Given the description of an element on the screen output the (x, y) to click on. 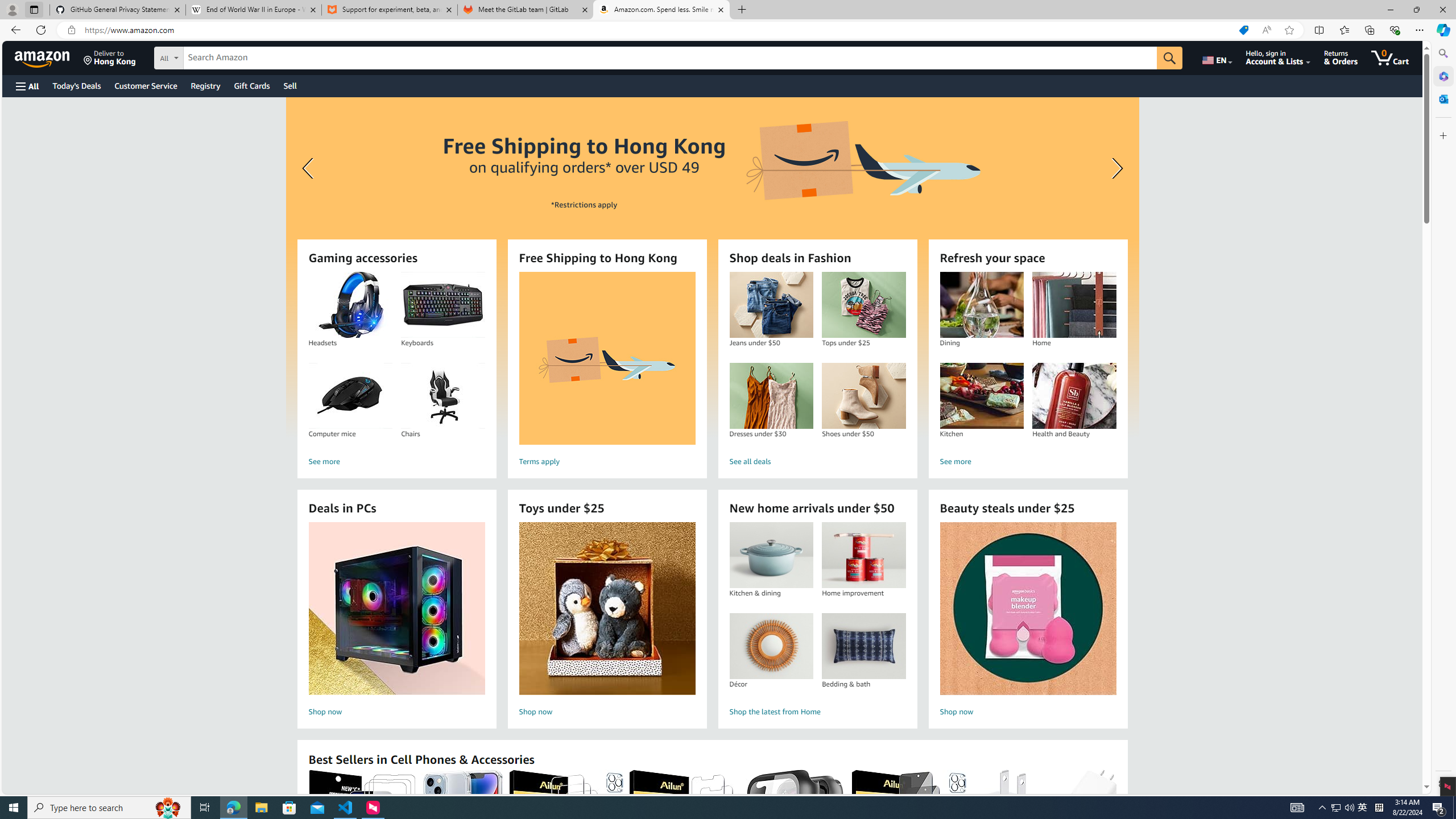
Beauty steals under $25 Shop now (1028, 620)
Deliver to Hong Kong (109, 57)
Close Outlook pane (1442, 98)
Headsets (350, 304)
0 items in cart (1389, 57)
Class: a-carousel-card (711, 267)
Previous slide (309, 168)
Customer Service (145, 85)
Shop the latest from Home (817, 712)
Free Shipping to Hong Kong Terms apply (606, 370)
Amazon.com. Spend less. Smile more. (660, 9)
